Given the description of an element on the screen output the (x, y) to click on. 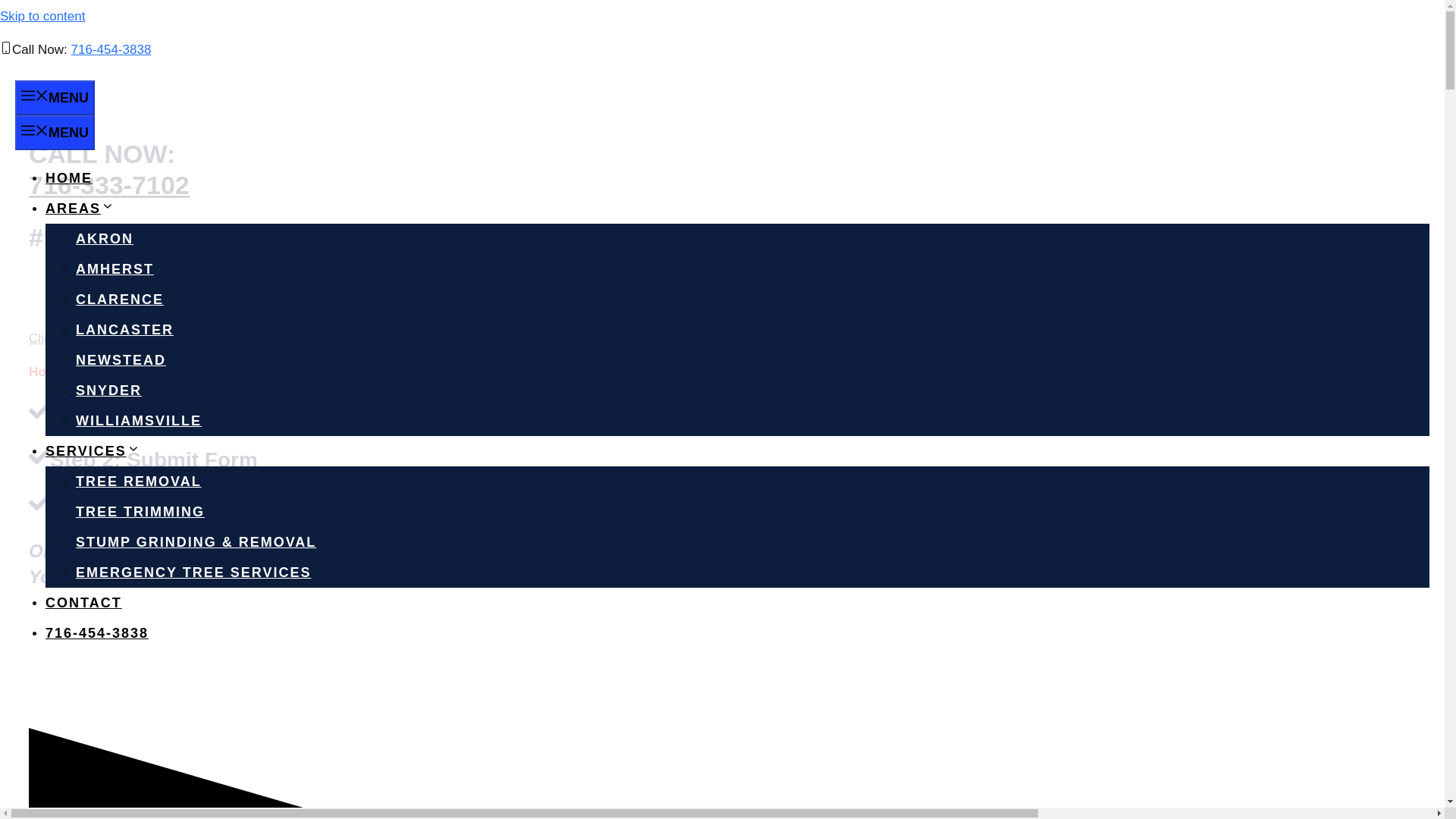
Skip to content (42, 16)
AMHERST (114, 268)
716-333-7102 (384, 413)
AKRON (104, 238)
Click Here to Call (78, 338)
NEWSTEAD (120, 359)
EMERGENCY TREE SERVICES (193, 572)
SERVICES (92, 450)
SNYDER (108, 390)
WILLIAMSVILLE (138, 420)
